Given the description of an element on the screen output the (x, y) to click on. 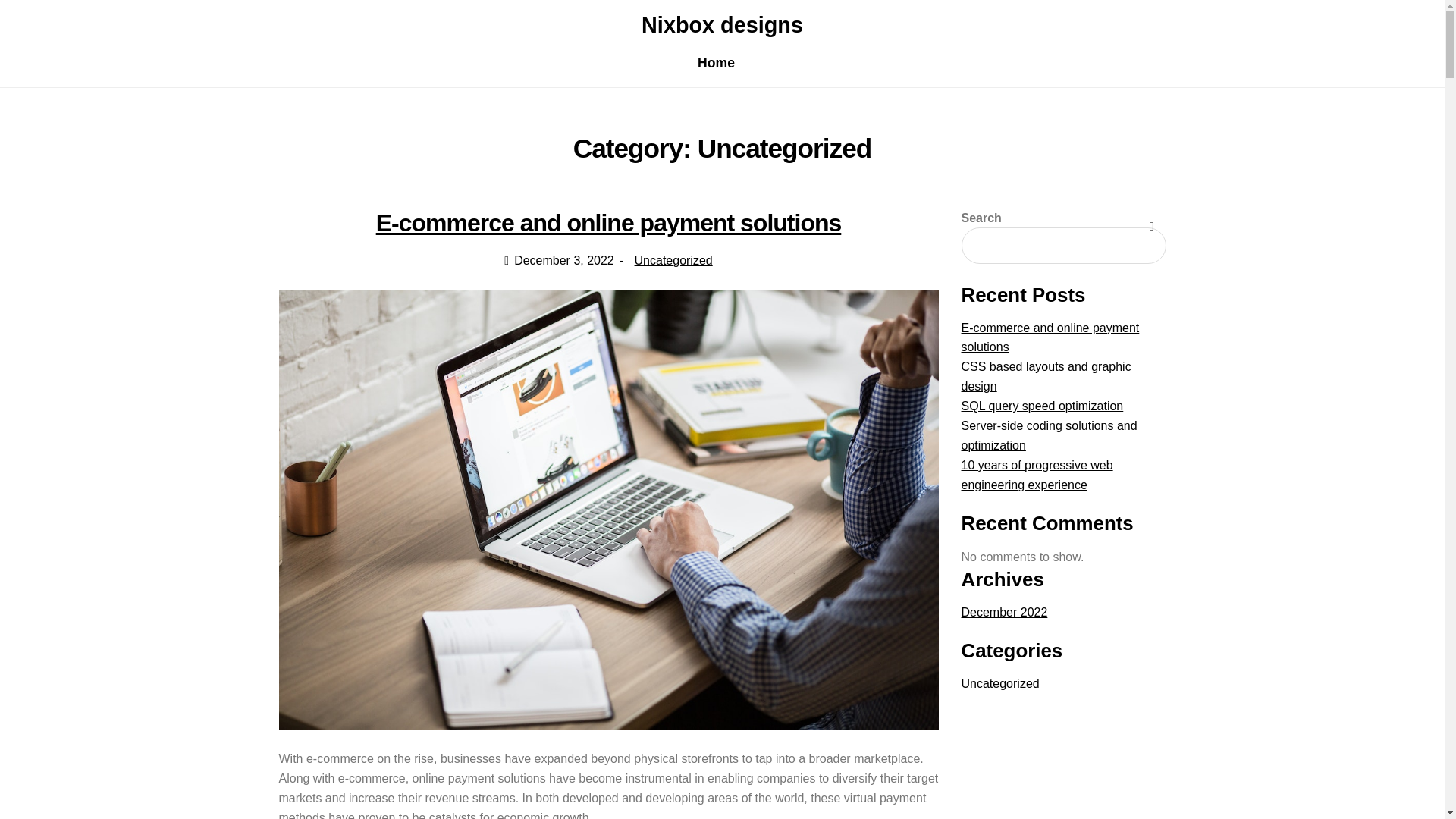
E-commerce and online payment solutions (1050, 337)
Nixbox designs (722, 24)
SQL query speed optimization (1042, 405)
Uncategorized (999, 683)
E-commerce and online payment solutions (608, 222)
Server-side coding solutions and optimization (1048, 435)
CSS based layouts and graphic design (1045, 376)
10 years of progressive web engineering experience (1036, 474)
